Given the description of an element on the screen output the (x, y) to click on. 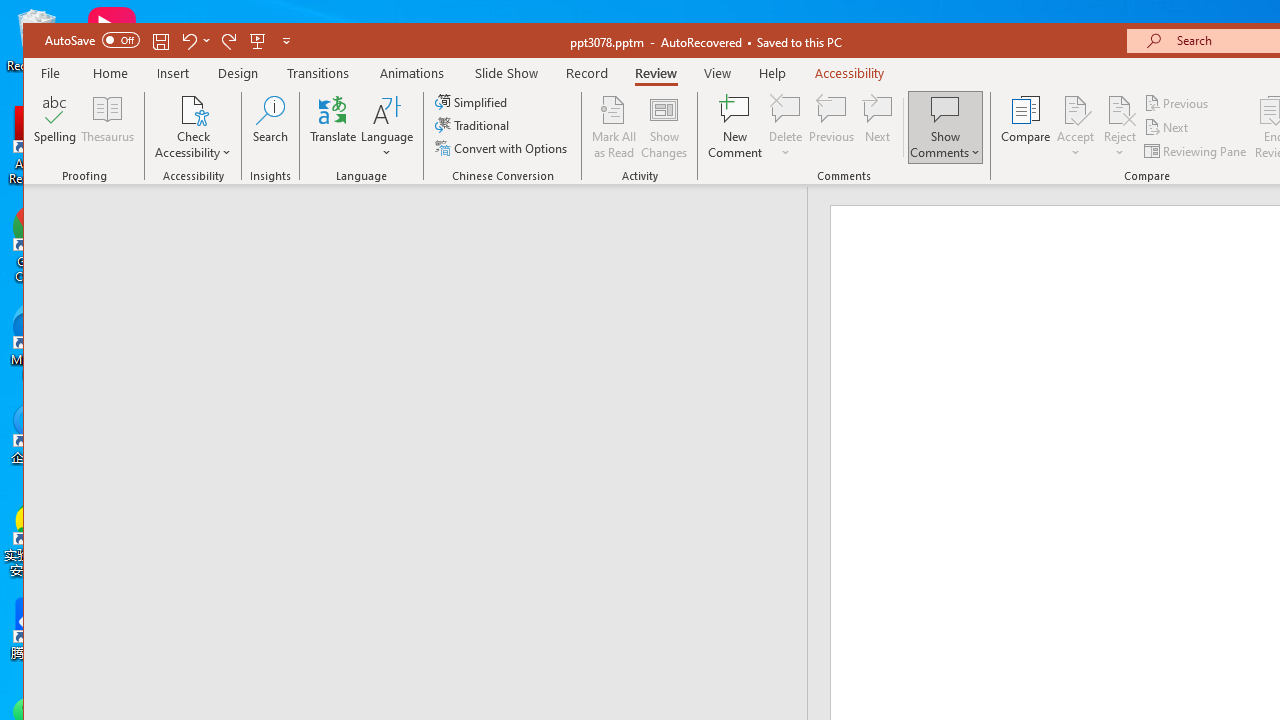
Convert with Options... (502, 147)
Translate (333, 127)
